Given the description of an element on the screen output the (x, y) to click on. 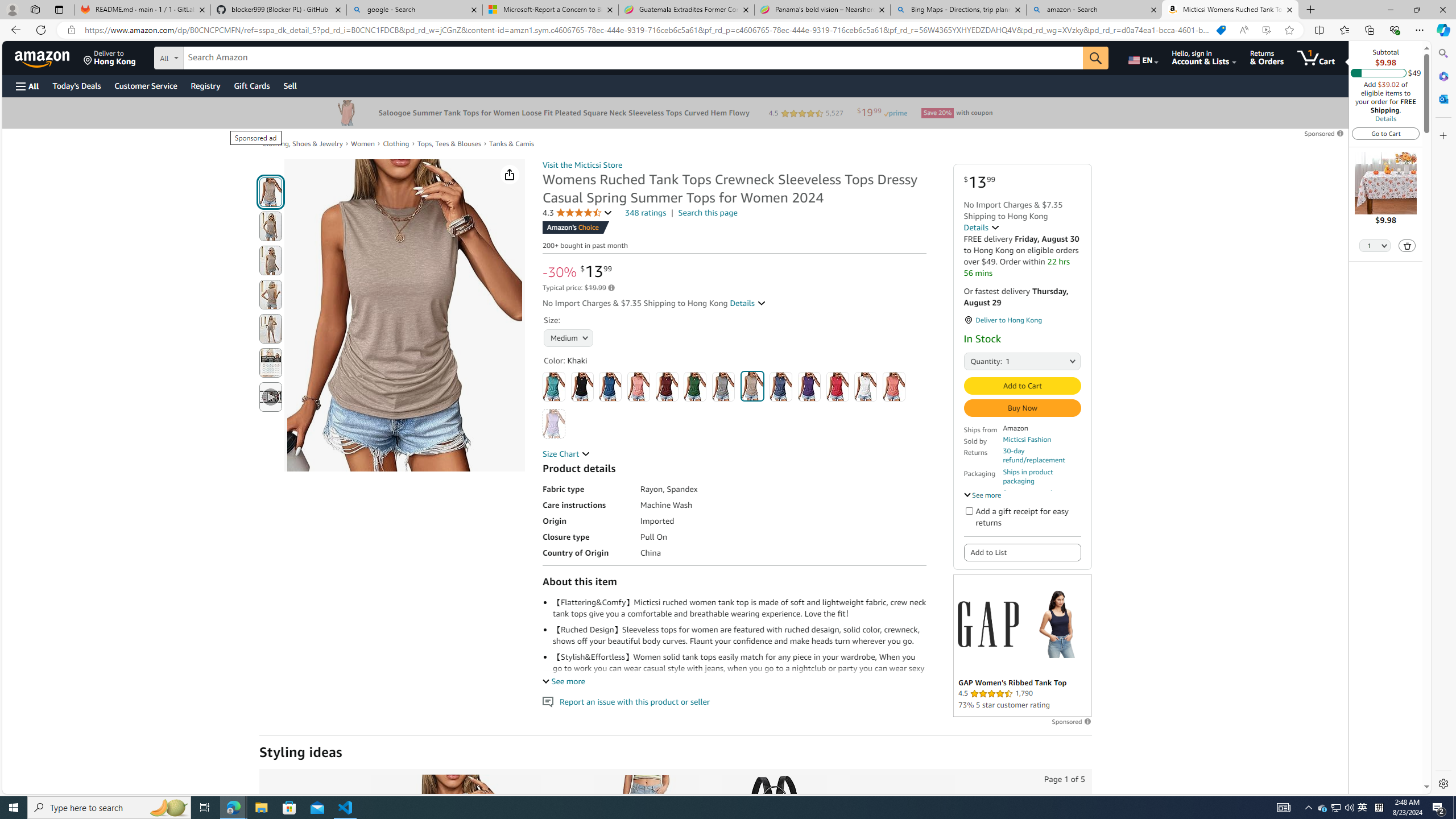
Red (837, 386)
amazon - Search (1094, 9)
Grey (723, 386)
Size Chart  (566, 453)
Report an issue with this product or seller (548, 701)
Blue (610, 386)
Go (1096, 57)
Dark Red (666, 386)
Light Purple (553, 423)
Details  (981, 227)
Pink (894, 386)
